Given the description of an element on the screen output the (x, y) to click on. 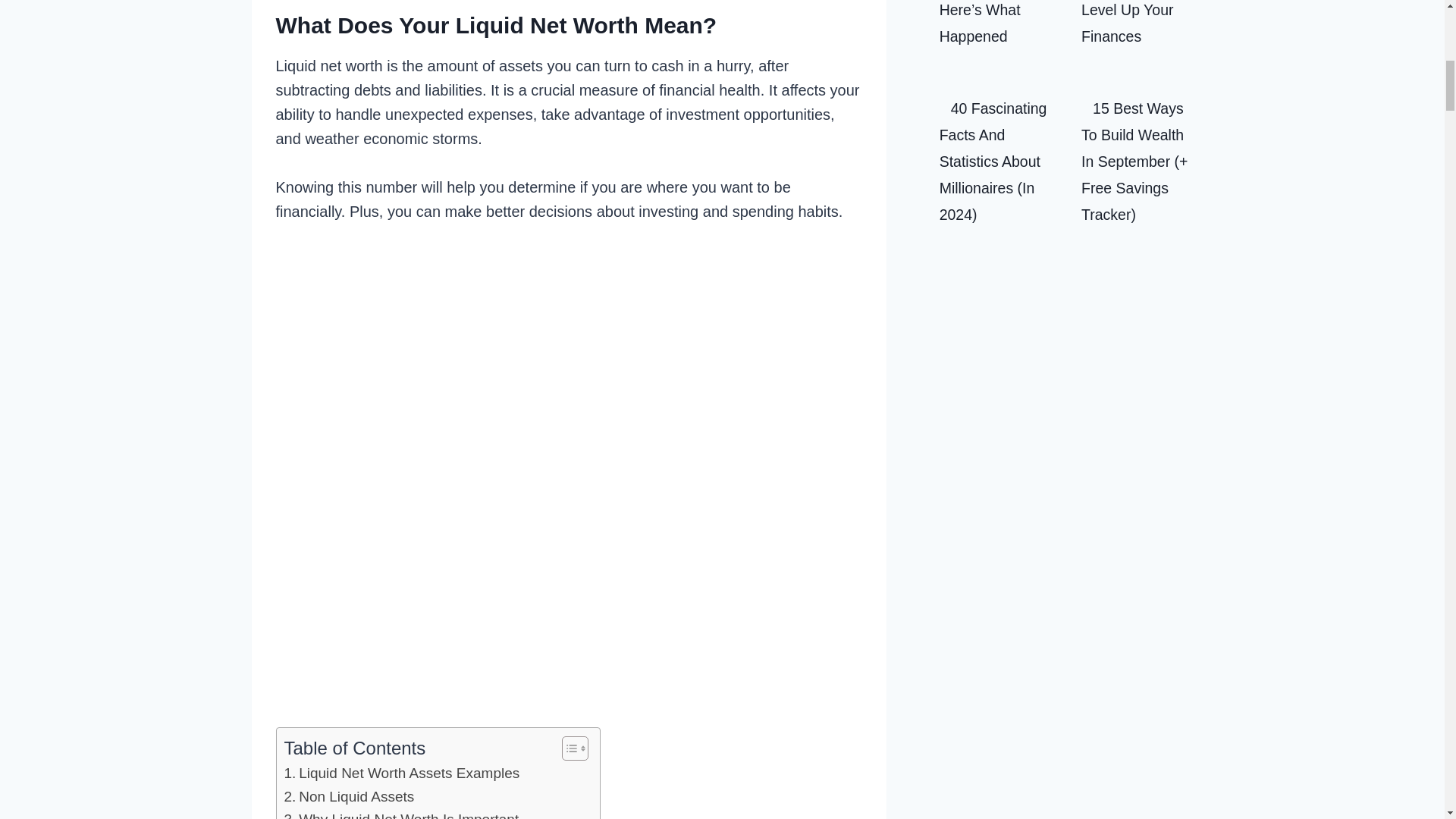
Why Liquid Net Worth Is Important (400, 813)
Liquid Net Worth Assets Examples (401, 773)
Why Liquid Net Worth Is Important (400, 813)
Non Liquid Assets (348, 796)
Non Liquid Assets (348, 796)
Liquid Net Worth Assets Examples (401, 773)
